Given the description of an element on the screen output the (x, y) to click on. 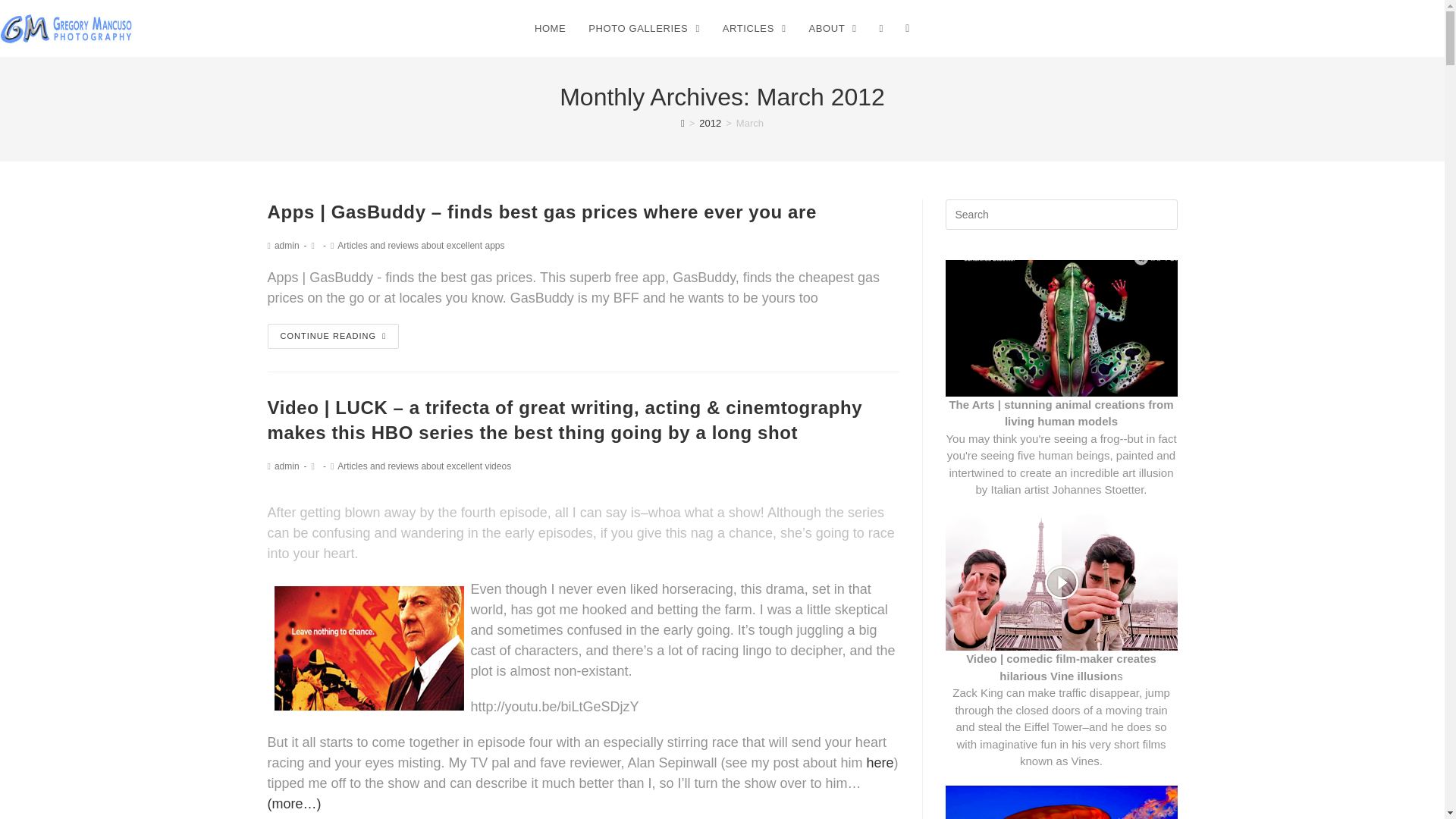
Posts by admin (287, 245)
Continue Reading (332, 335)
ABOUT (831, 28)
Posts by admin (287, 466)
ARTICLES (754, 28)
HOME (549, 28)
Luck---thumb (369, 648)
PHOTO GALLERIES (643, 28)
